Given the description of an element on the screen output the (x, y) to click on. 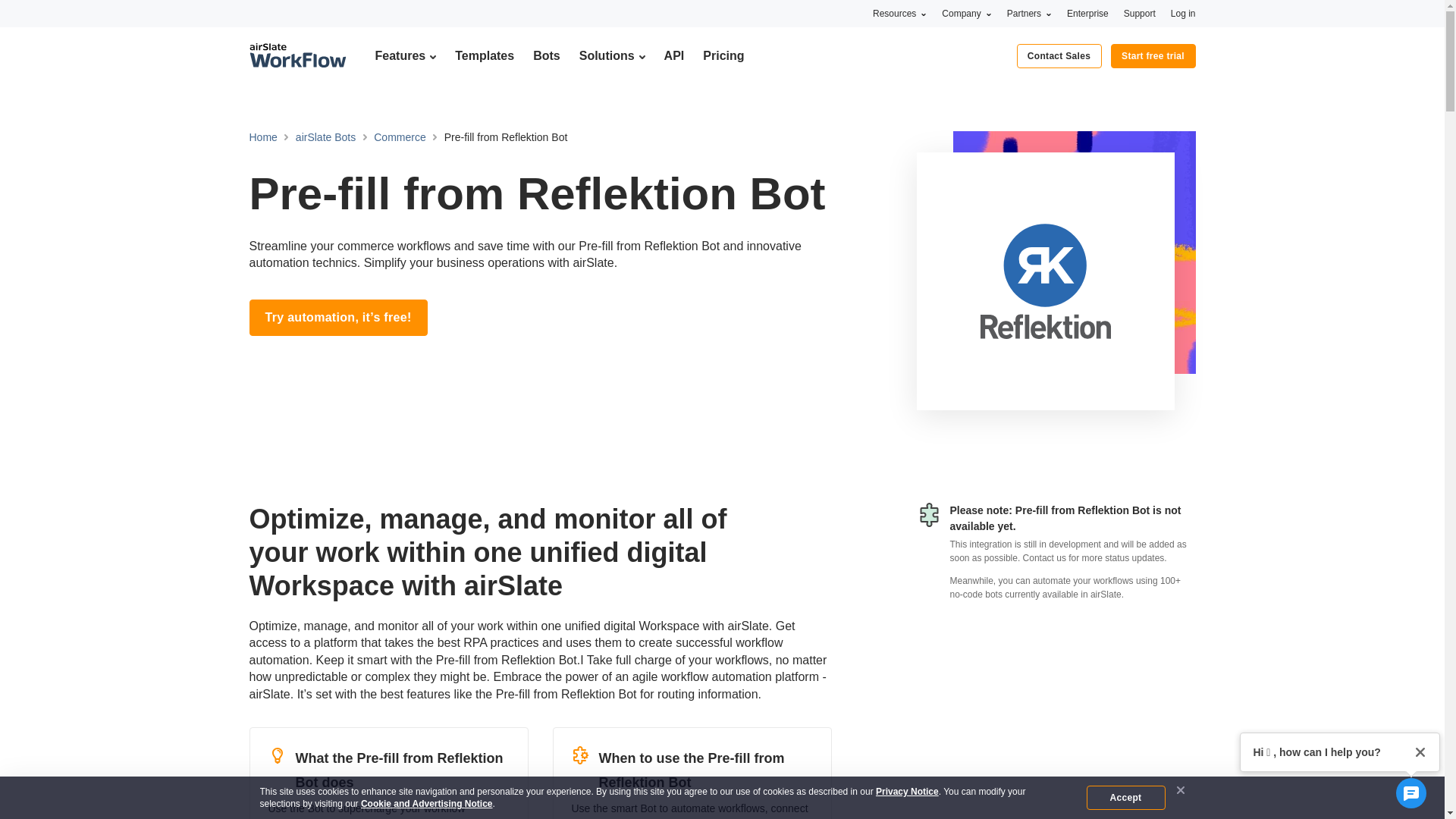
Log in (1182, 13)
Partners (1029, 13)
Enterprise (1087, 13)
Support (1140, 13)
Templates (483, 55)
Resources (899, 13)
Company (966, 13)
